Given the description of an element on the screen output the (x, y) to click on. 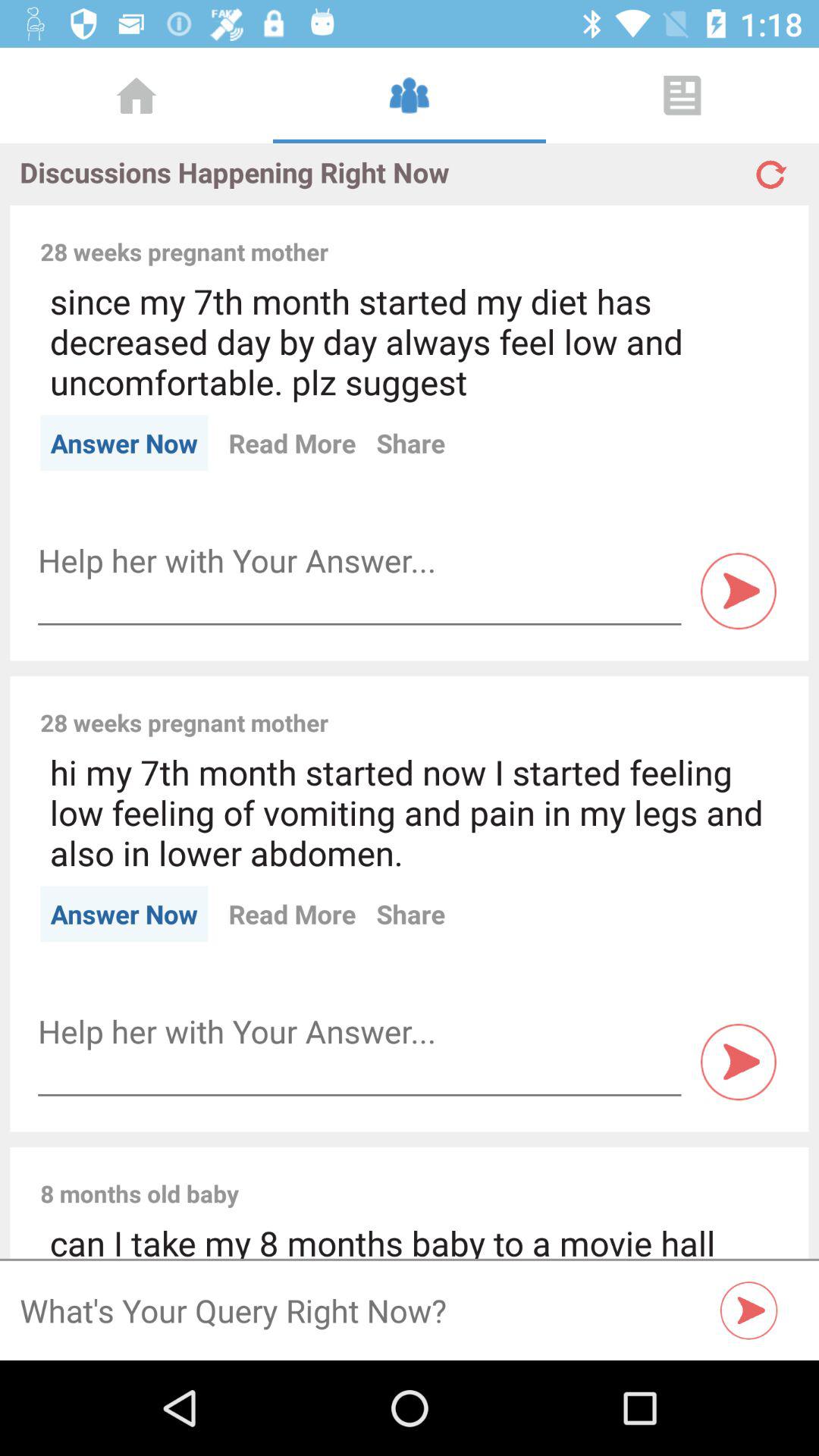
choose the icon above the hi my 7th (563, 706)
